Given the description of an element on the screen output the (x, y) to click on. 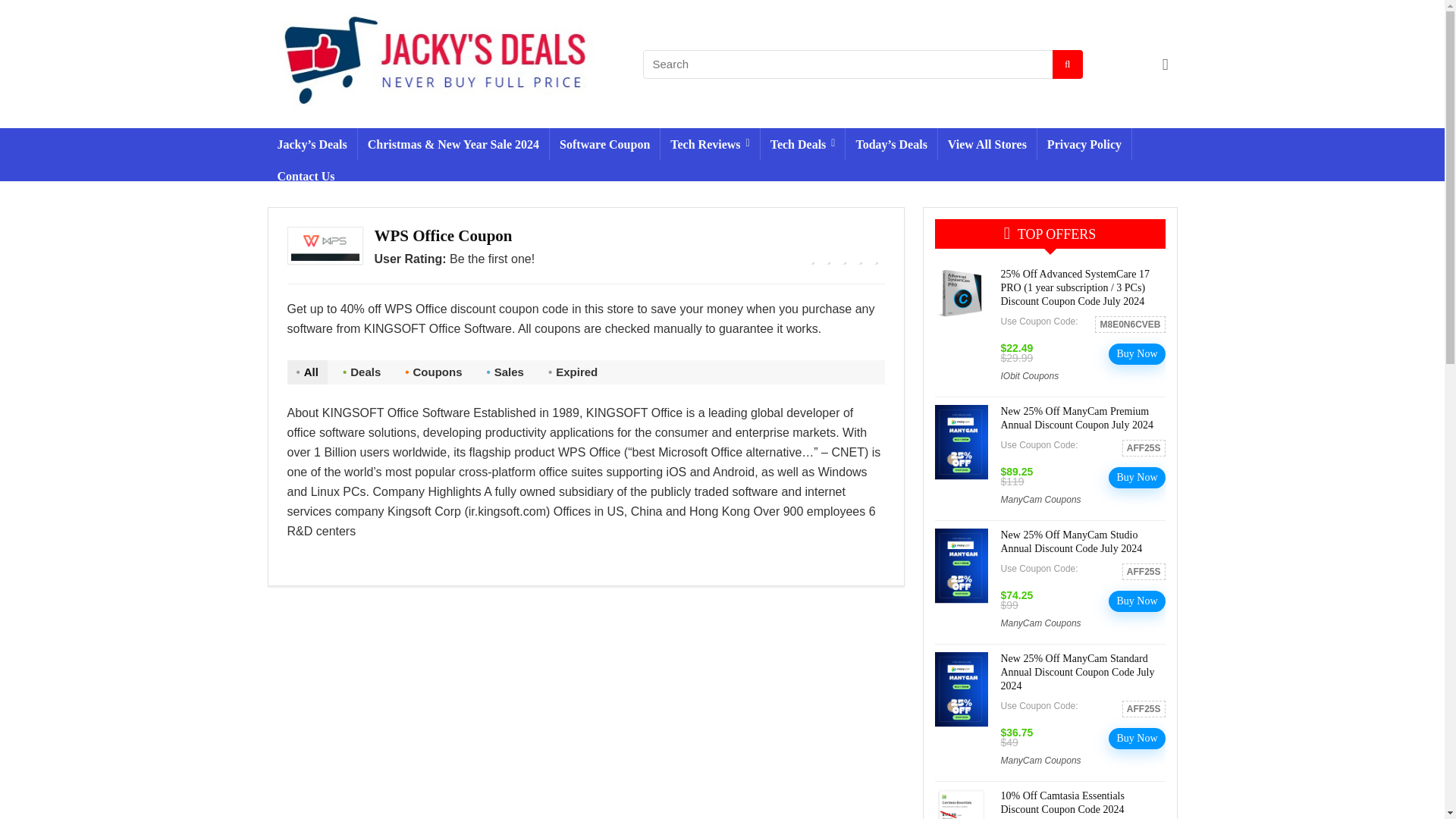
Tech Reviews (709, 143)
Tech Deals (802, 143)
Software Coupon (604, 143)
